Given the description of an element on the screen output the (x, y) to click on. 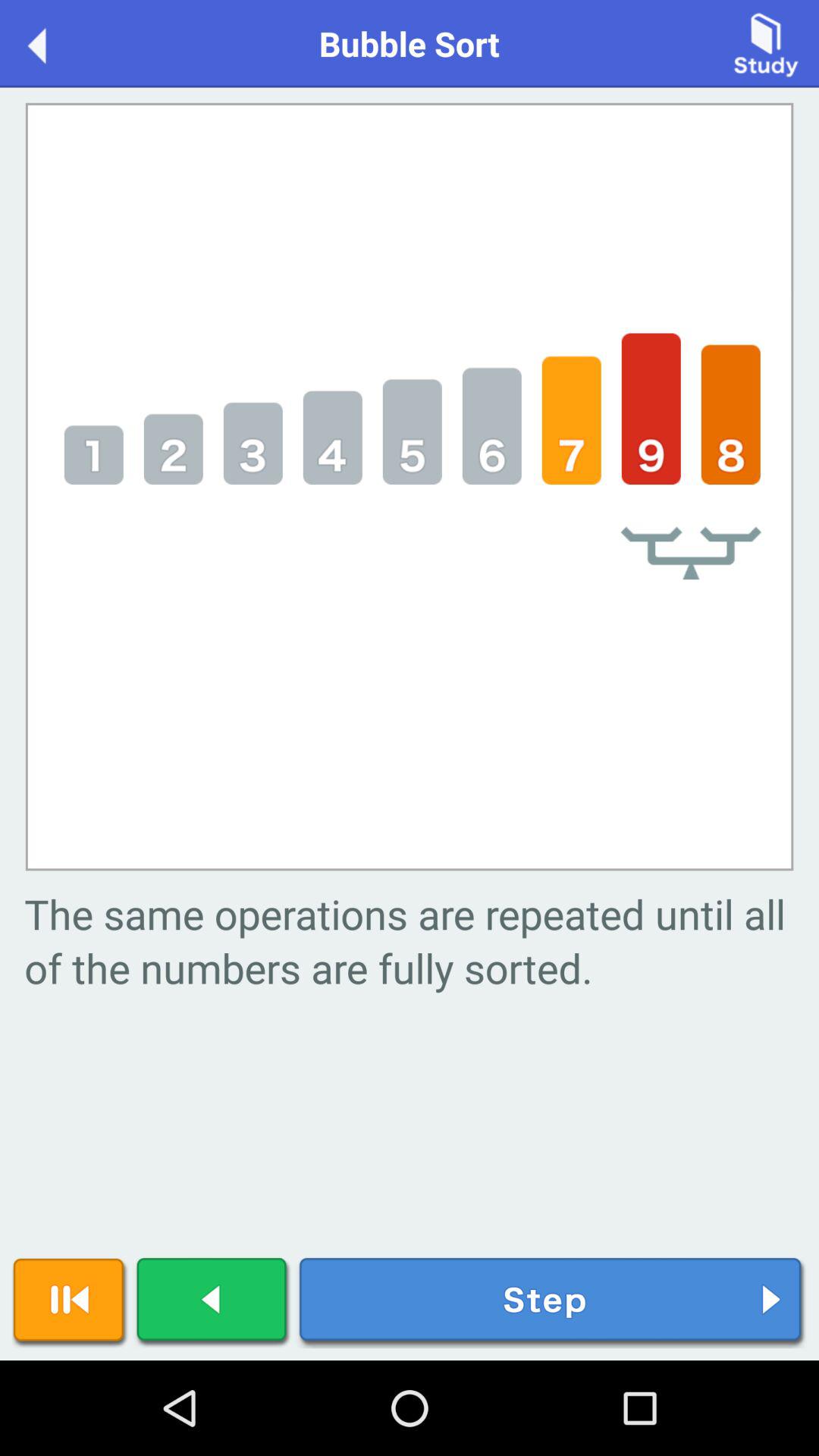
turn on icon next to bubble sort (52, 42)
